Given the description of an element on the screen output the (x, y) to click on. 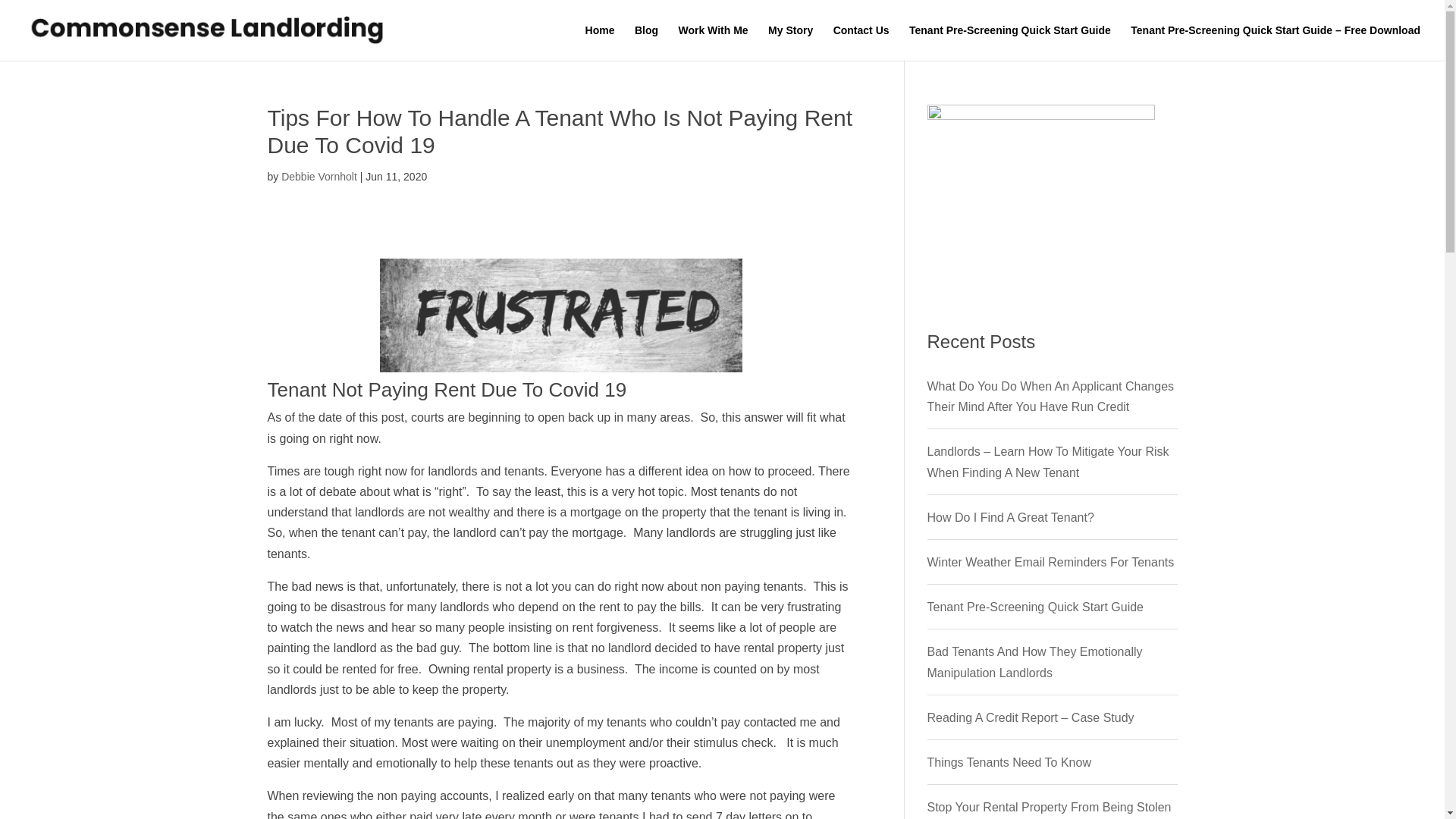
Tenant Pre-Screening Quick Start Guide (1009, 42)
Contact Us (860, 42)
Winter Weather Email Reminders For Tenants (1049, 562)
Posts by Debbie Vornholt (318, 176)
Bad Tenants And How They Emotionally Manipulation Landlords (1033, 661)
Debbie Vornholt (318, 176)
How Do I Find A Great Tenant? (1009, 517)
Stop Your Rental Property From Being Stolen (1048, 807)
Work With Me (713, 42)
